Given the description of an element on the screen output the (x, y) to click on. 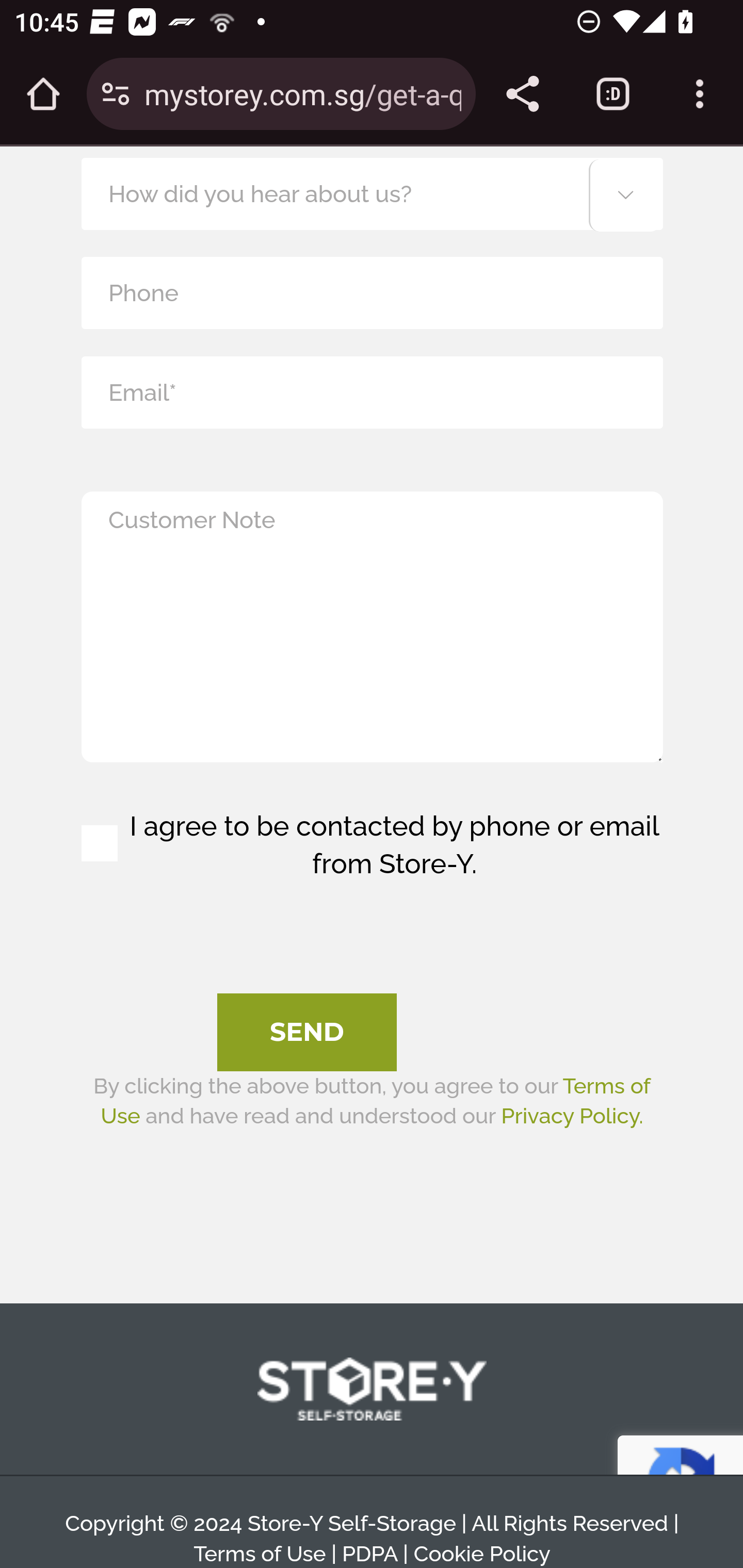
Open the home page (43, 93)
Connection is secure (115, 93)
Share (522, 93)
Switch or close tabs (612, 93)
Customize and control Google Chrome (699, 93)
mystorey.com.sg/get-a-quote/ (302, 92)
How did you hear about us? (371, 193)
Send (306, 1032)
Terms of Use (374, 1101)
Privacy Policy. (572, 1116)
store-y logo no background | Store-y Self Storage (371, 1389)
Terms of Use (259, 1554)
PDPA (369, 1554)
Cookie Policy (480, 1554)
